Given the description of an element on the screen output the (x, y) to click on. 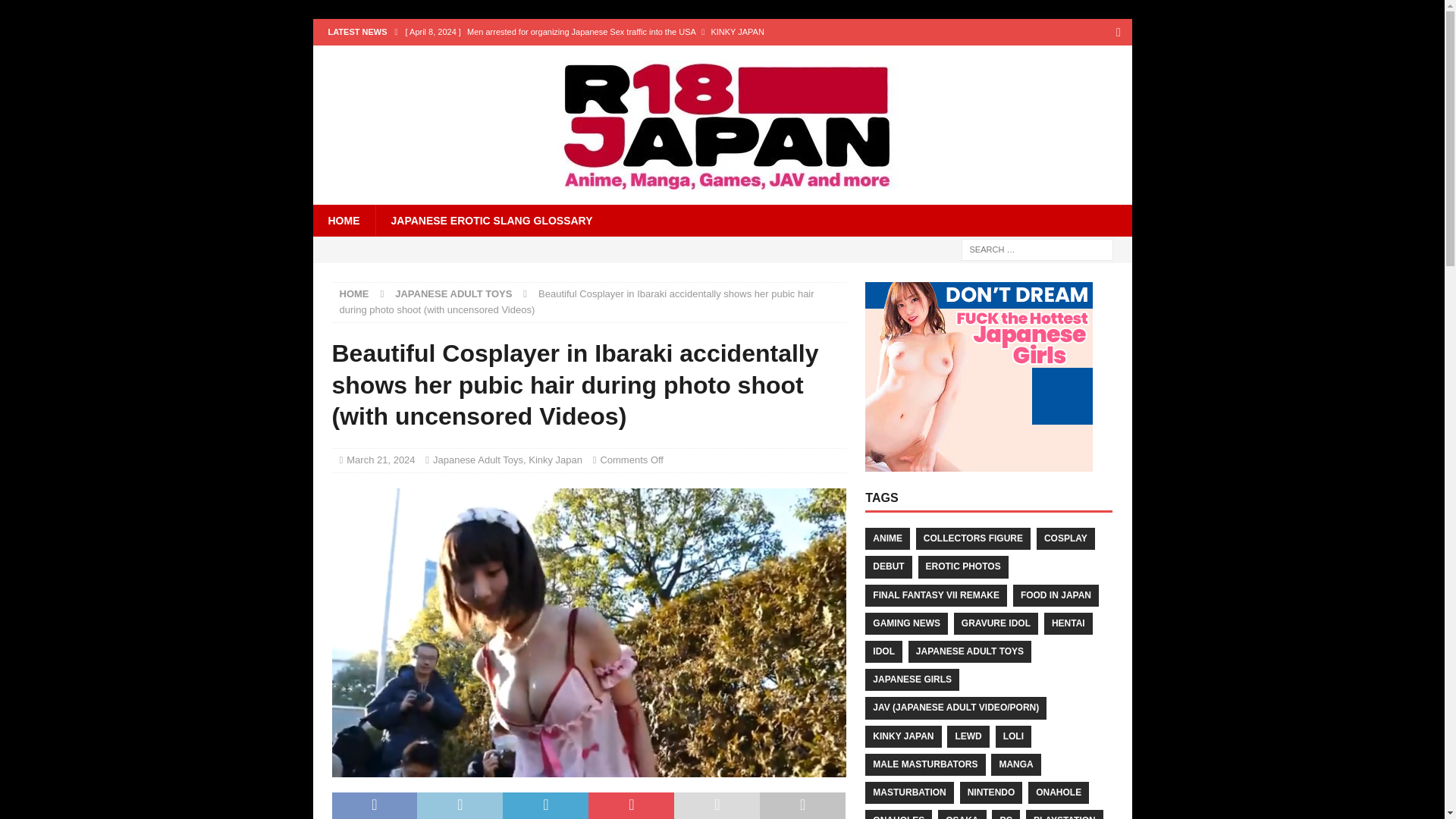
Kinky Japan (555, 460)
Search (56, 11)
Credit Card companies cracking down on DLsite (628, 57)
Japanese Adult Toys (477, 460)
HOME (343, 220)
JAPANESE ADULT TOYS (453, 293)
HOME (354, 293)
JAPANESE EROTIC SLANG GLOSSARY (490, 220)
March 21, 2024 (380, 460)
